Given the description of an element on the screen output the (x, y) to click on. 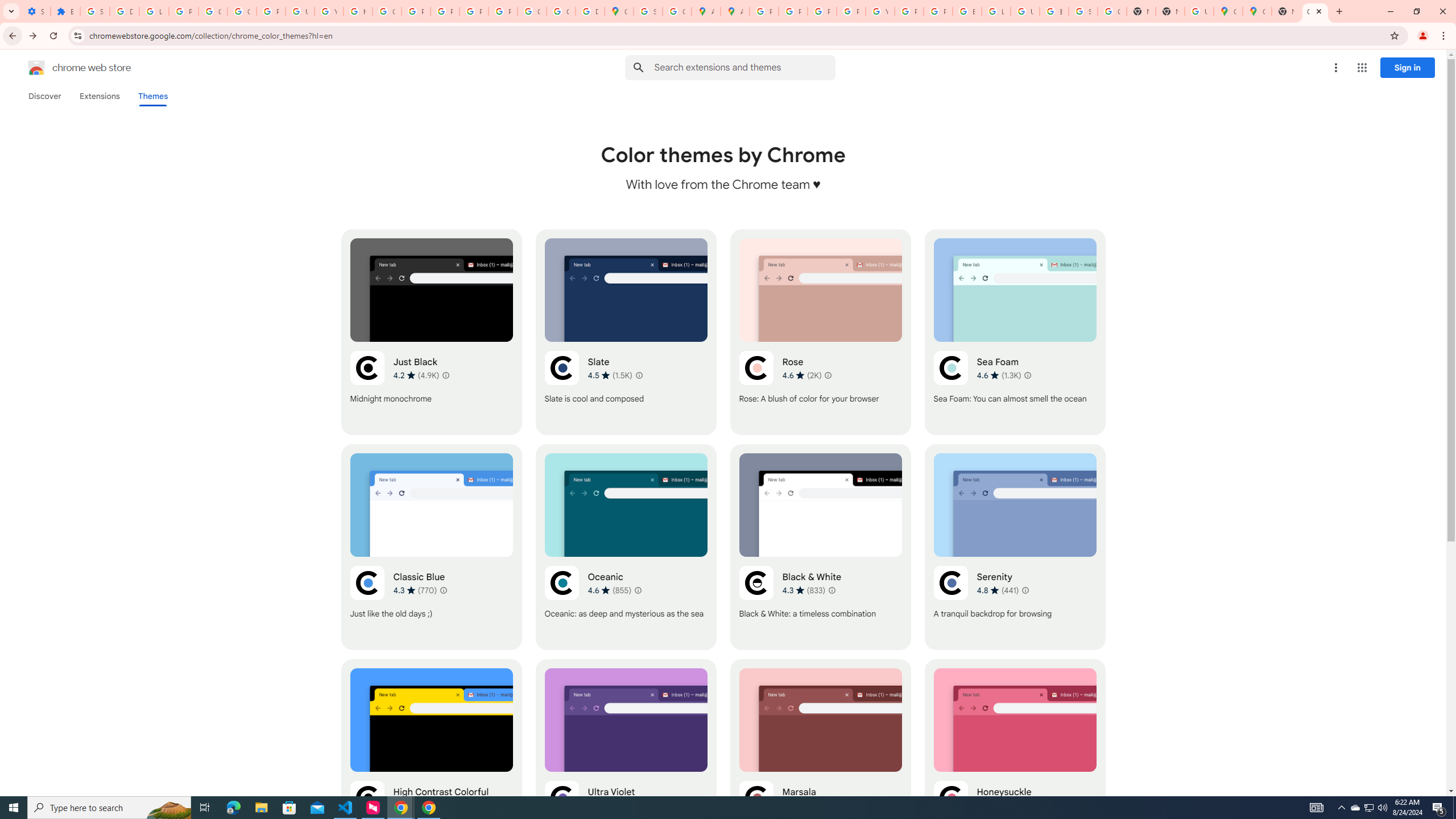
Sign in - Google Accounts (1082, 11)
Sea Foam (1014, 331)
Average rating 4.6 out of 5 stars. 2K ratings. (801, 375)
Privacy Help Center - Policies Help (821, 11)
Rose (820, 331)
Learn more about results and reviews "Sea Foam" (1027, 375)
Themes (152, 95)
Learn more about results and reviews "Serenity" (1025, 590)
Average rating 4.6 out of 5 stars. 1.3K ratings. (999, 375)
Black & White (820, 546)
